Given the description of an element on the screen output the (x, y) to click on. 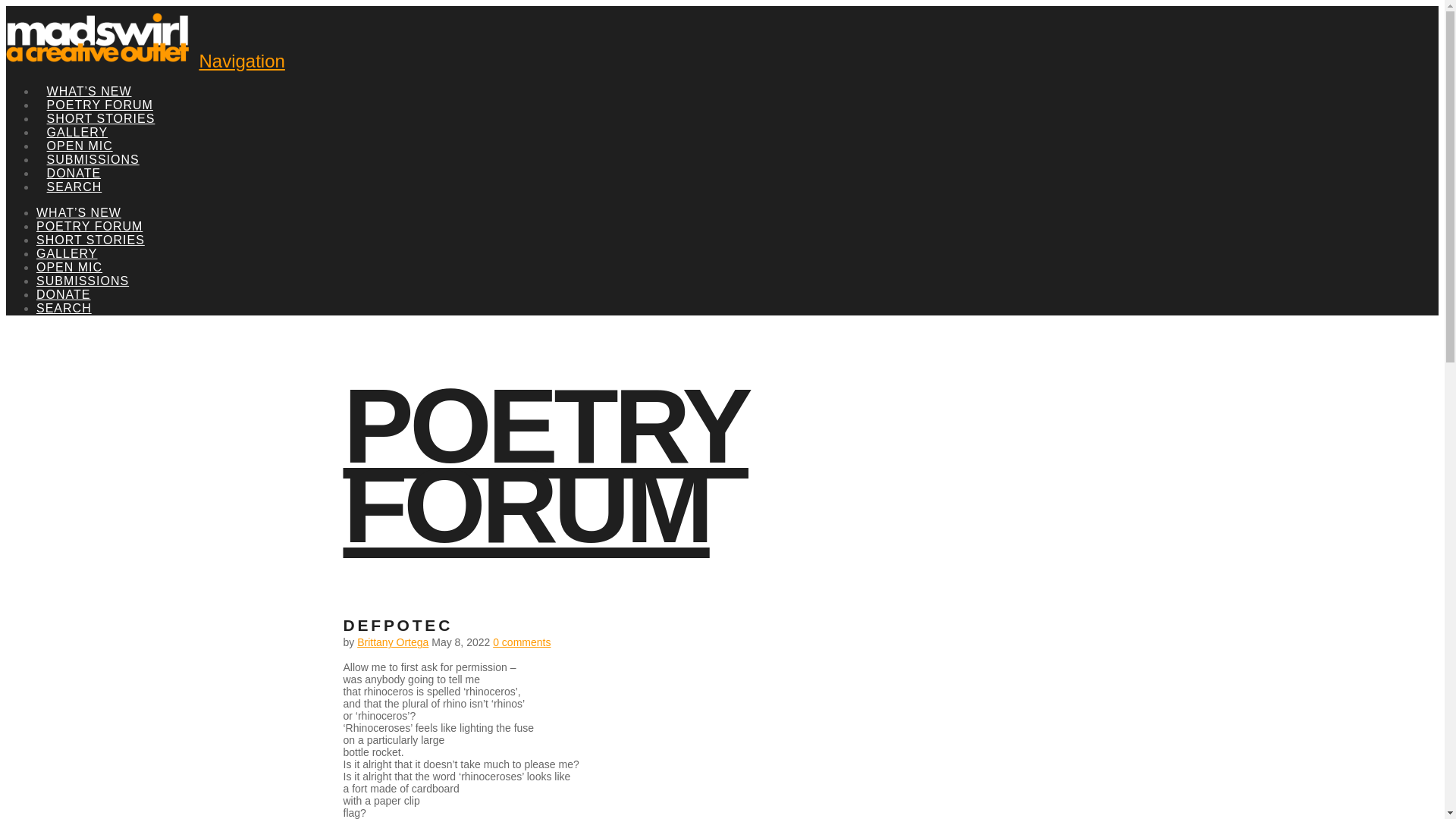
POETRY FORUM (545, 465)
OPEN MIC (79, 128)
SHORT STORIES (100, 101)
Navigation (240, 60)
GALLERY (76, 114)
Brittany Ortega (392, 642)
GALLERY (66, 253)
OPEN MIC (68, 267)
SHORT STORIES (90, 239)
0 comments (521, 642)
